Given the description of an element on the screen output the (x, y) to click on. 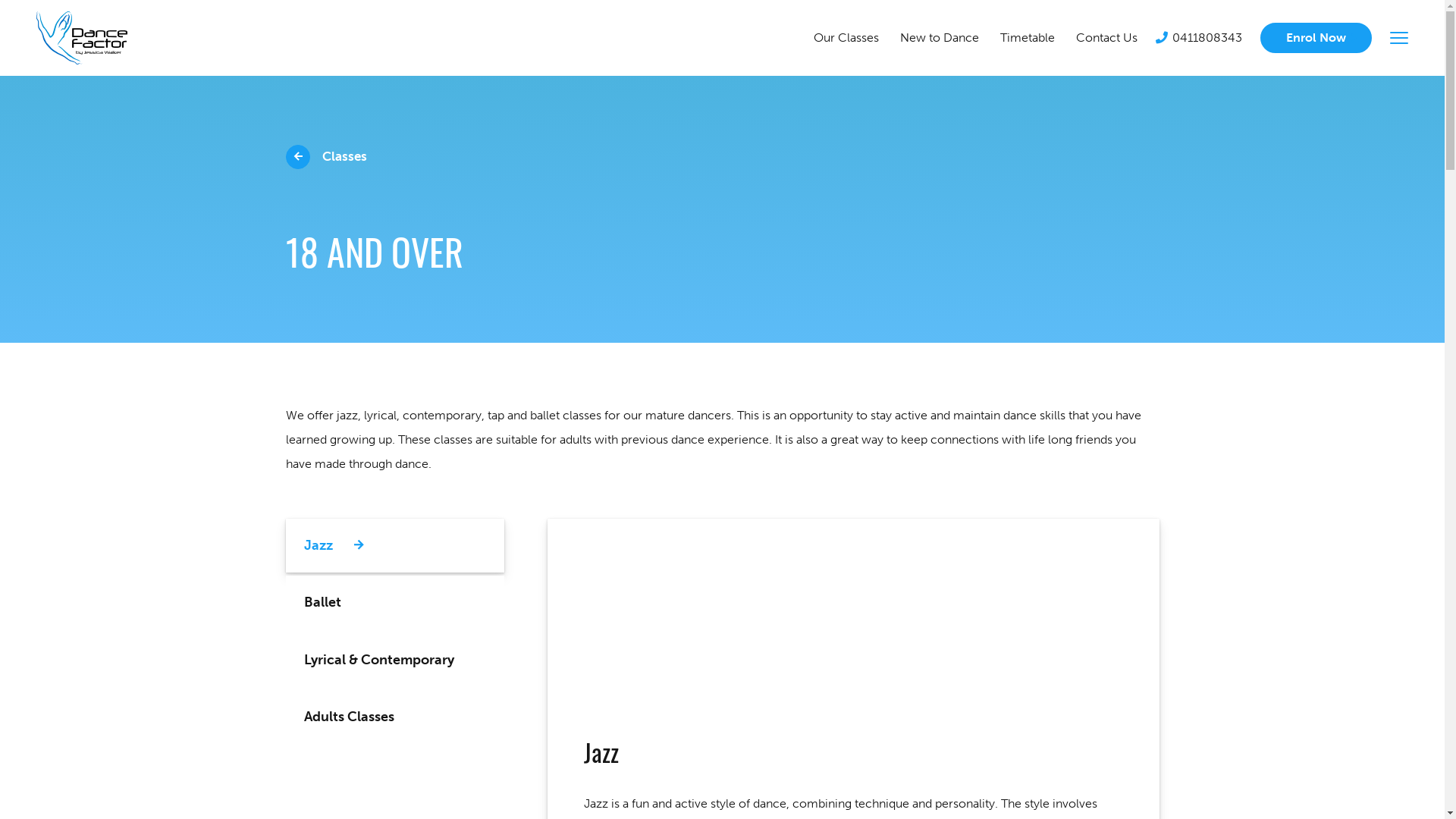
Contact Us Element type: text (1106, 37)
Timetable Element type: text (1027, 37)
Our Classes Element type: text (845, 37)
0411808343 Element type: text (1198, 37)
New to Dance Element type: text (939, 37)
Classes Element type: text (325, 156)
Enrol Now Element type: text (1315, 37)
